Given the description of an element on the screen output the (x, y) to click on. 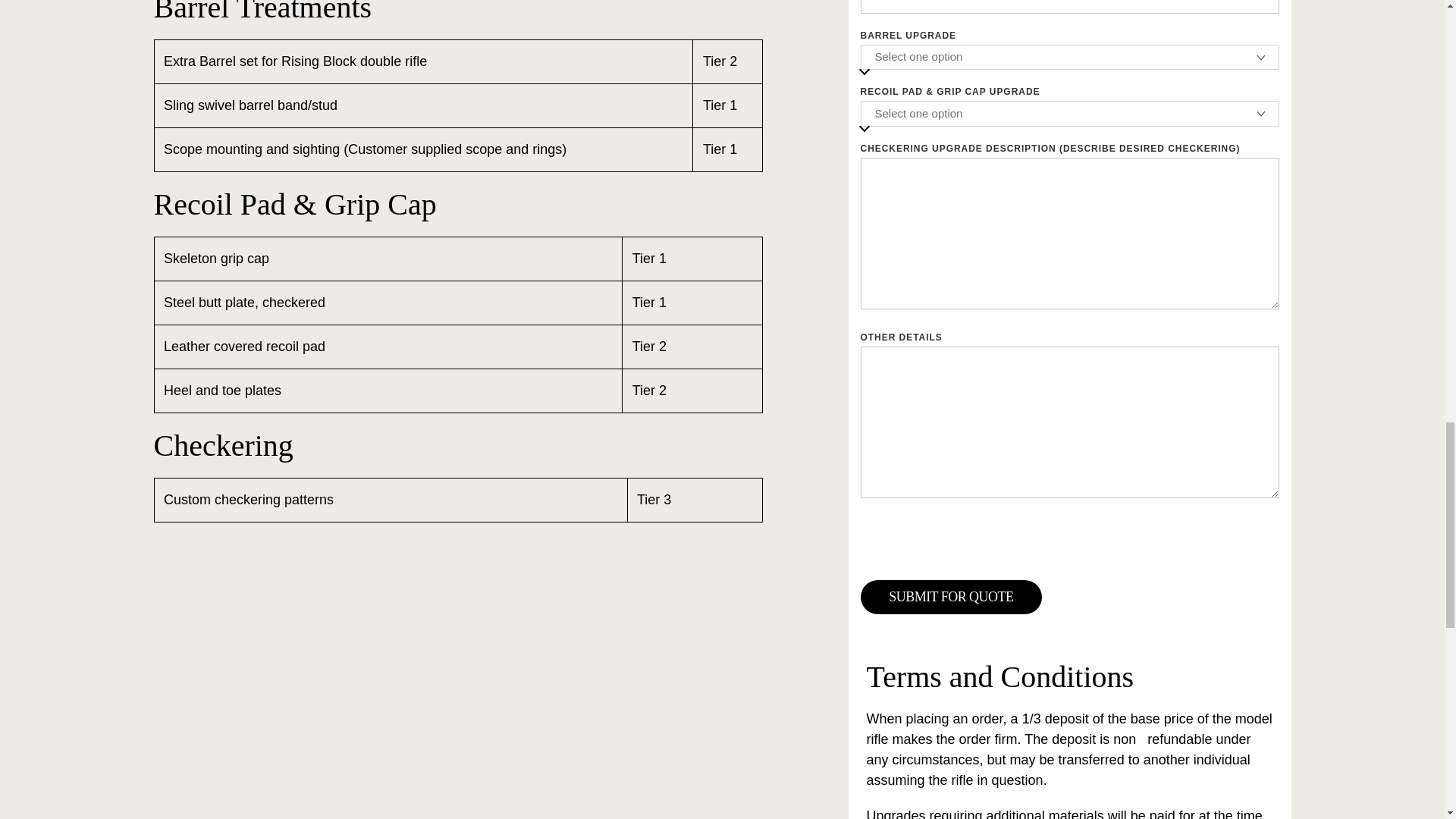
SUBMIT FOR QUOTE (951, 596)
